Given the description of an element on the screen output the (x, y) to click on. 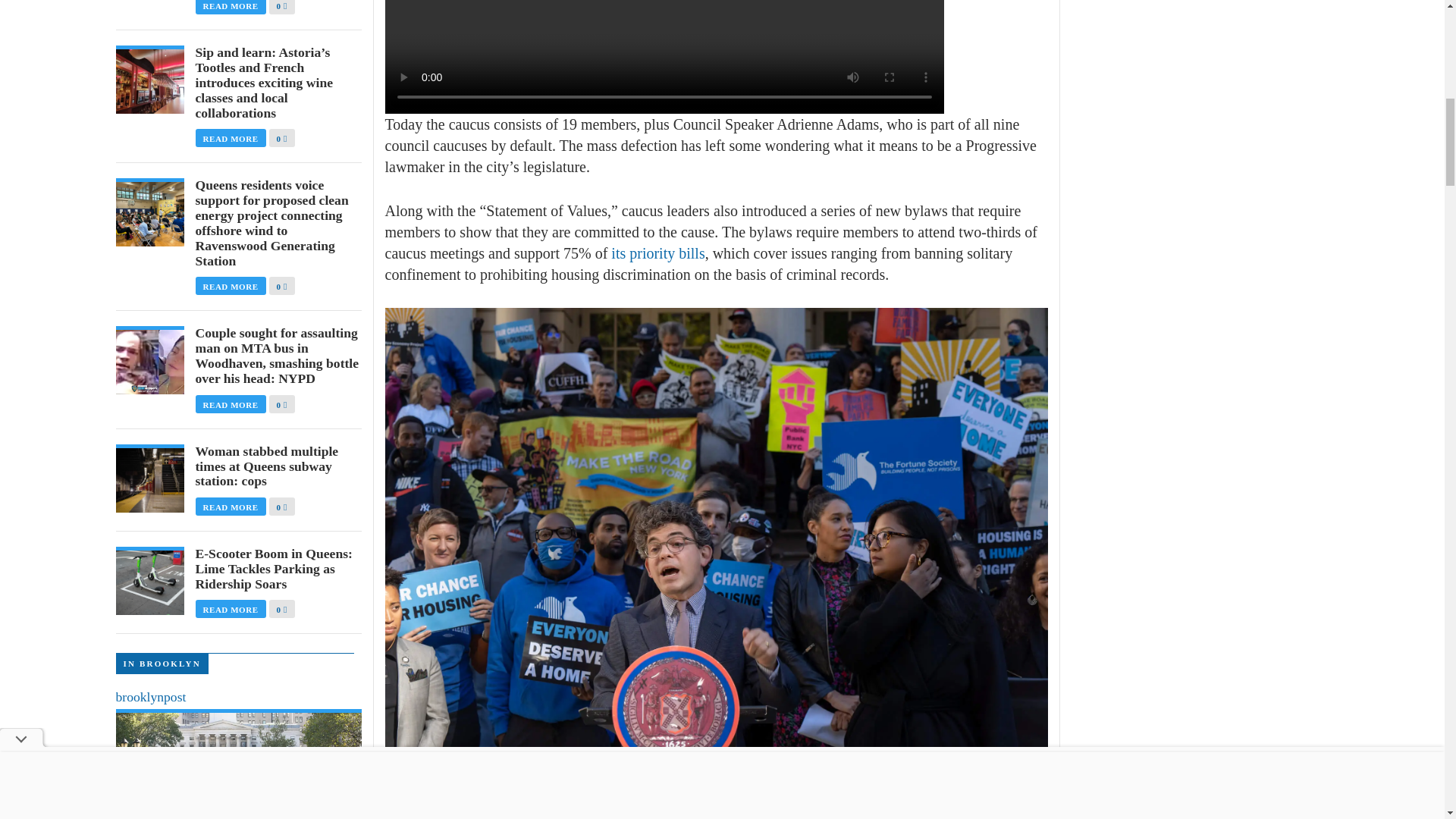
3rd party ad content (1184, 230)
3rd party ad content (1184, 62)
its priority bills (655, 252)
